Given the description of an element on the screen output the (x, y) to click on. 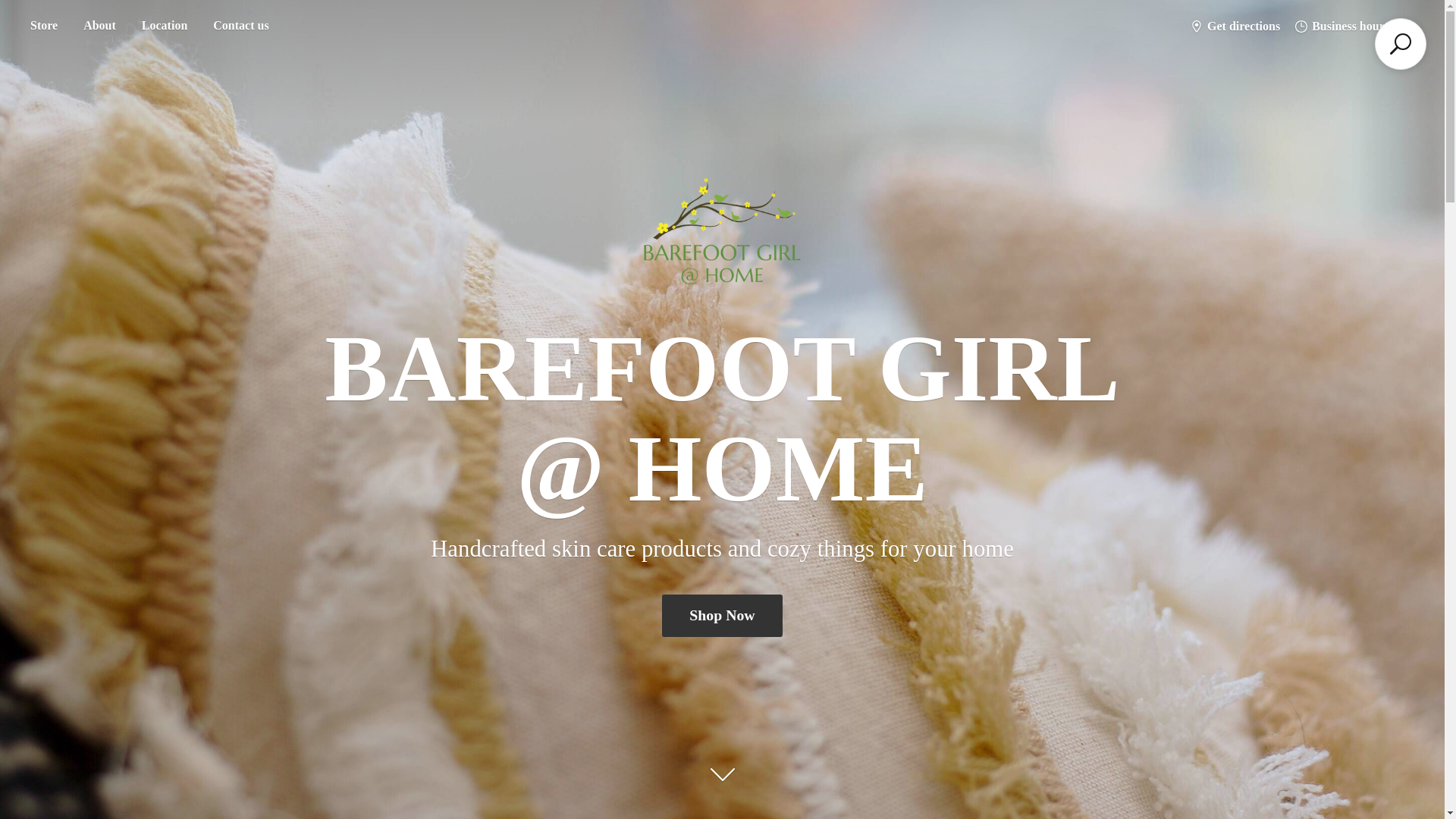
Store (43, 25)
About (99, 25)
Business hours (1341, 26)
Get directions (1234, 26)
Location (164, 25)
Contact us (240, 25)
